Given the description of an element on the screen output the (x, y) to click on. 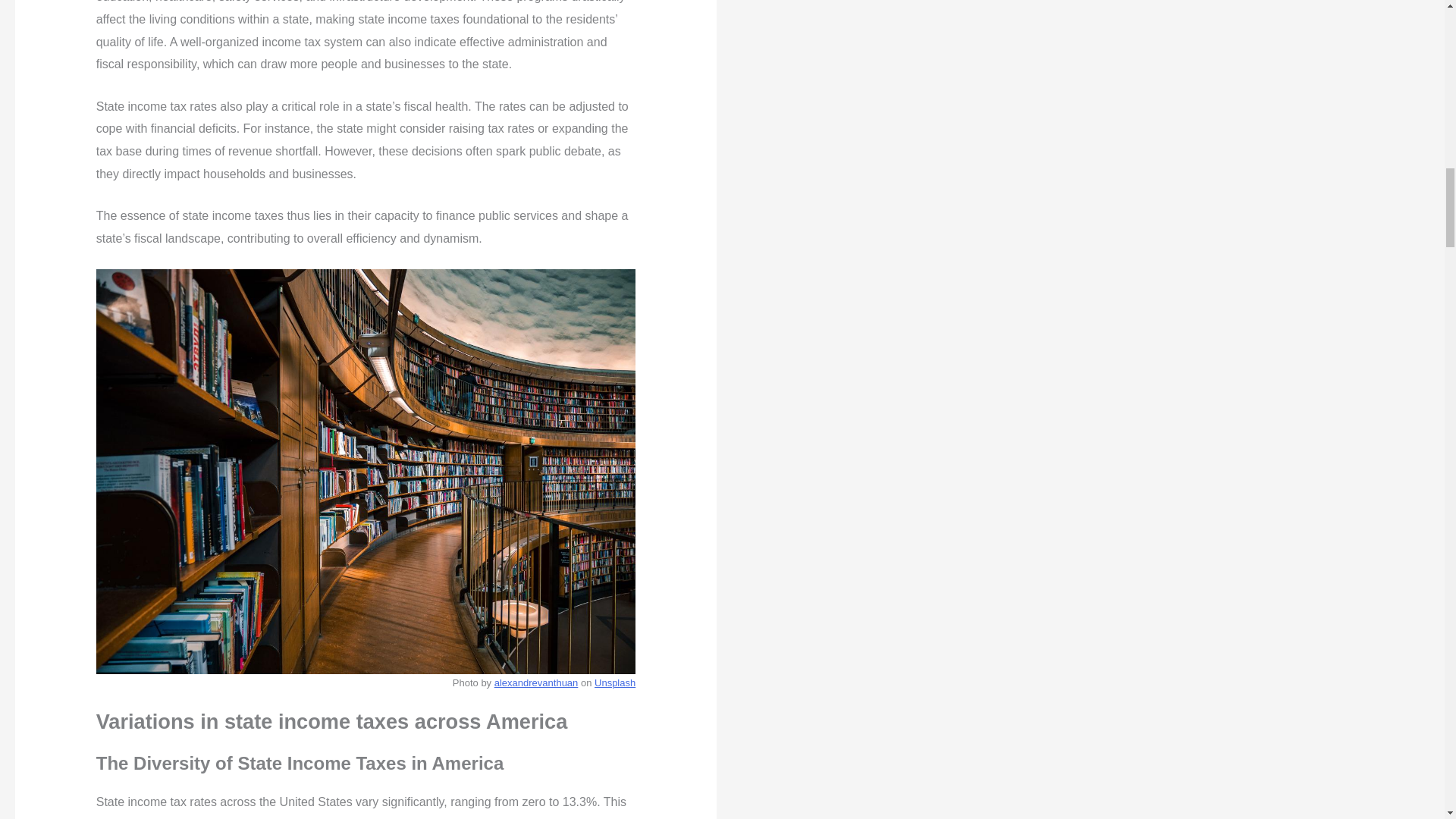
Unsplash (614, 682)
alexandrevanthuan (536, 682)
